Given the description of an element on the screen output the (x, y) to click on. 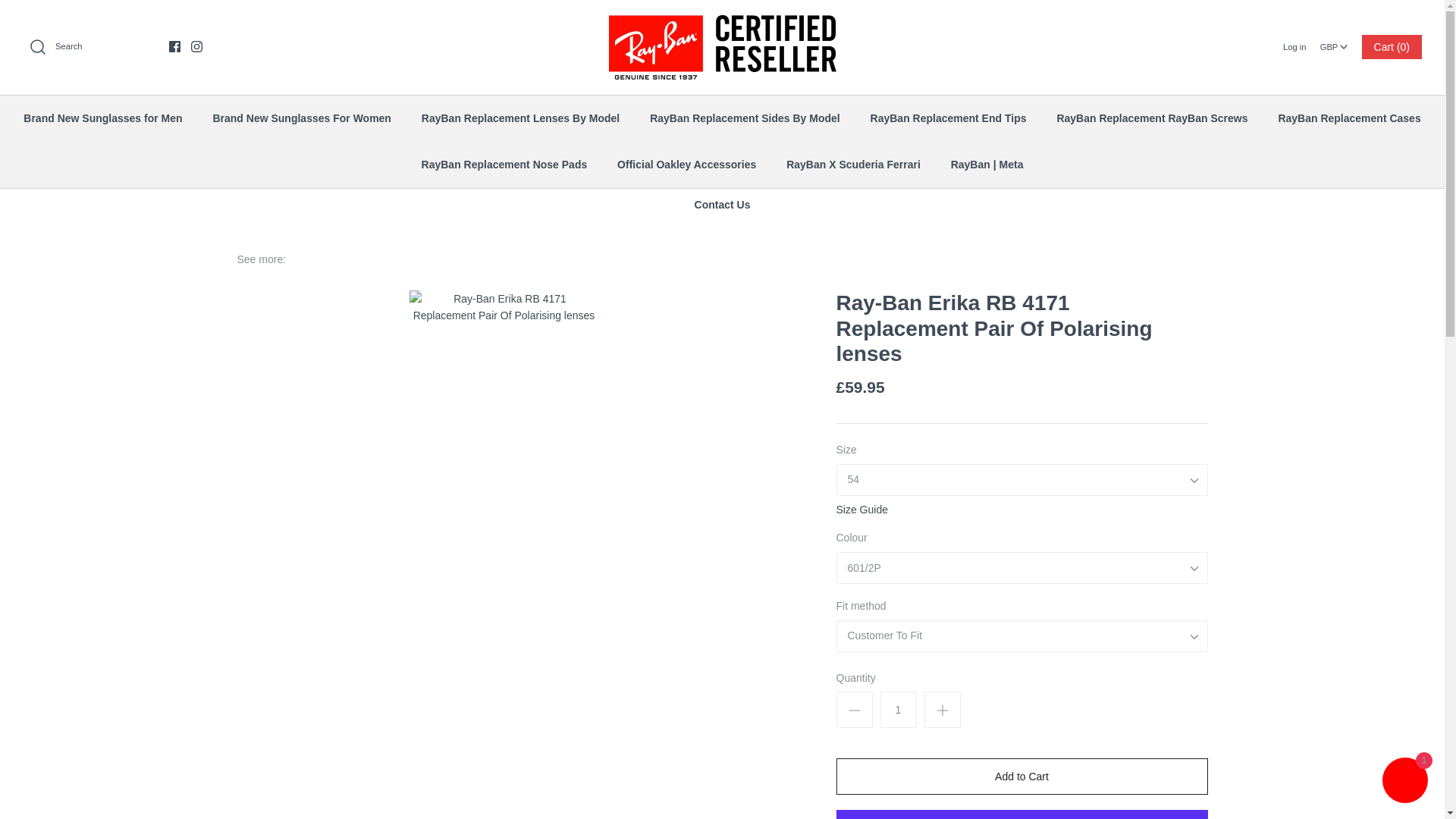
Brand New Sunglasses For Women (301, 118)
Minus (853, 710)
Instagram (196, 46)
Brand New Sunglasses for Men (102, 118)
Plus (941, 710)
Instagram (196, 46)
Add to Cart (1021, 776)
RayBan X Scuderia Ferrari (853, 163)
Down (1343, 46)
54 (861, 479)
Instagram (196, 46)
RayBan Replacement Sides By Model (744, 118)
Add to Cart (1021, 776)
RayBan Replacement Cases (1348, 118)
Facebook (174, 46)
